Given the description of an element on the screen output the (x, y) to click on. 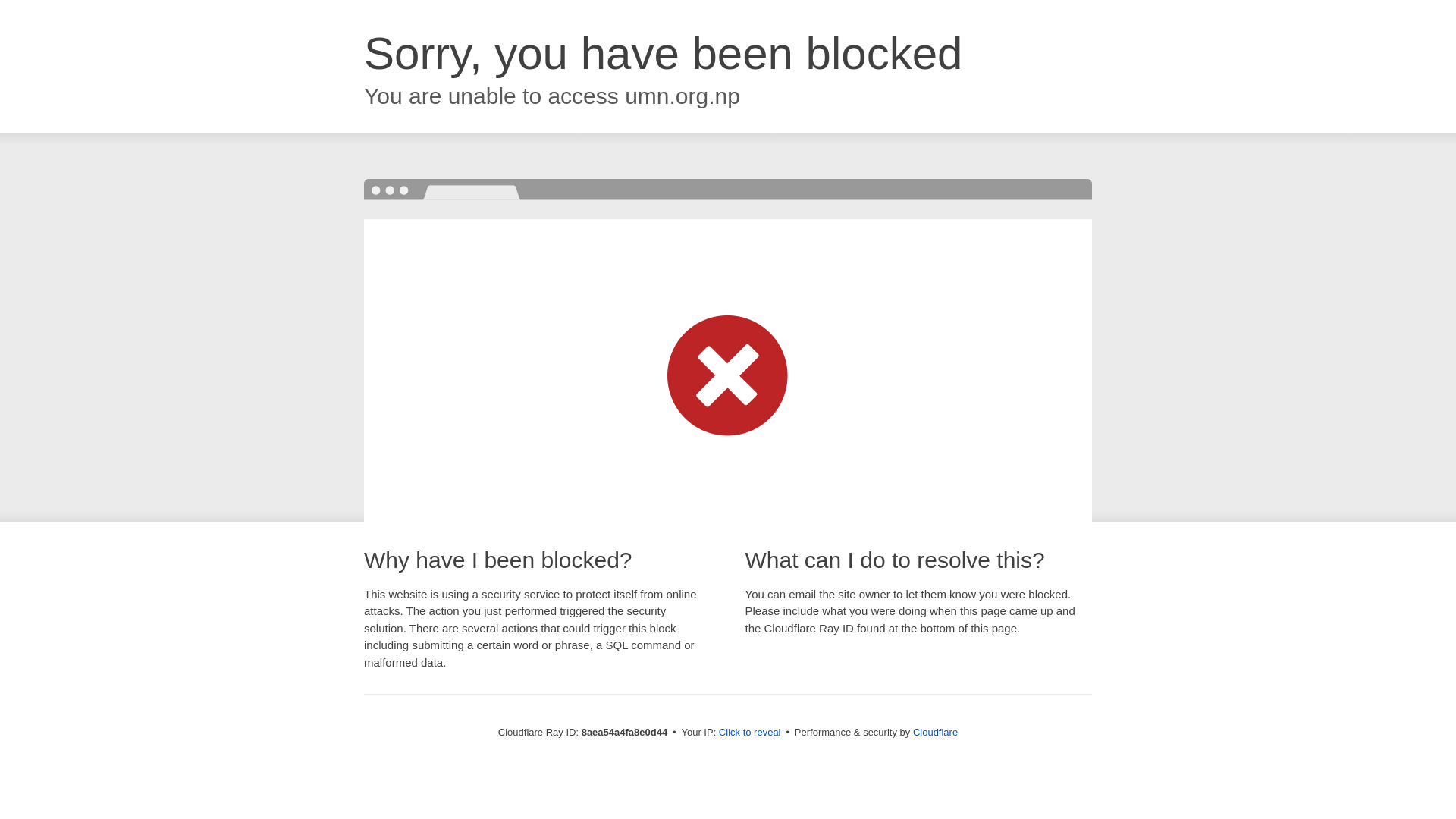
Cloudflare (935, 731)
Click to reveal (749, 732)
